Given the description of an element on the screen output the (x, y) to click on. 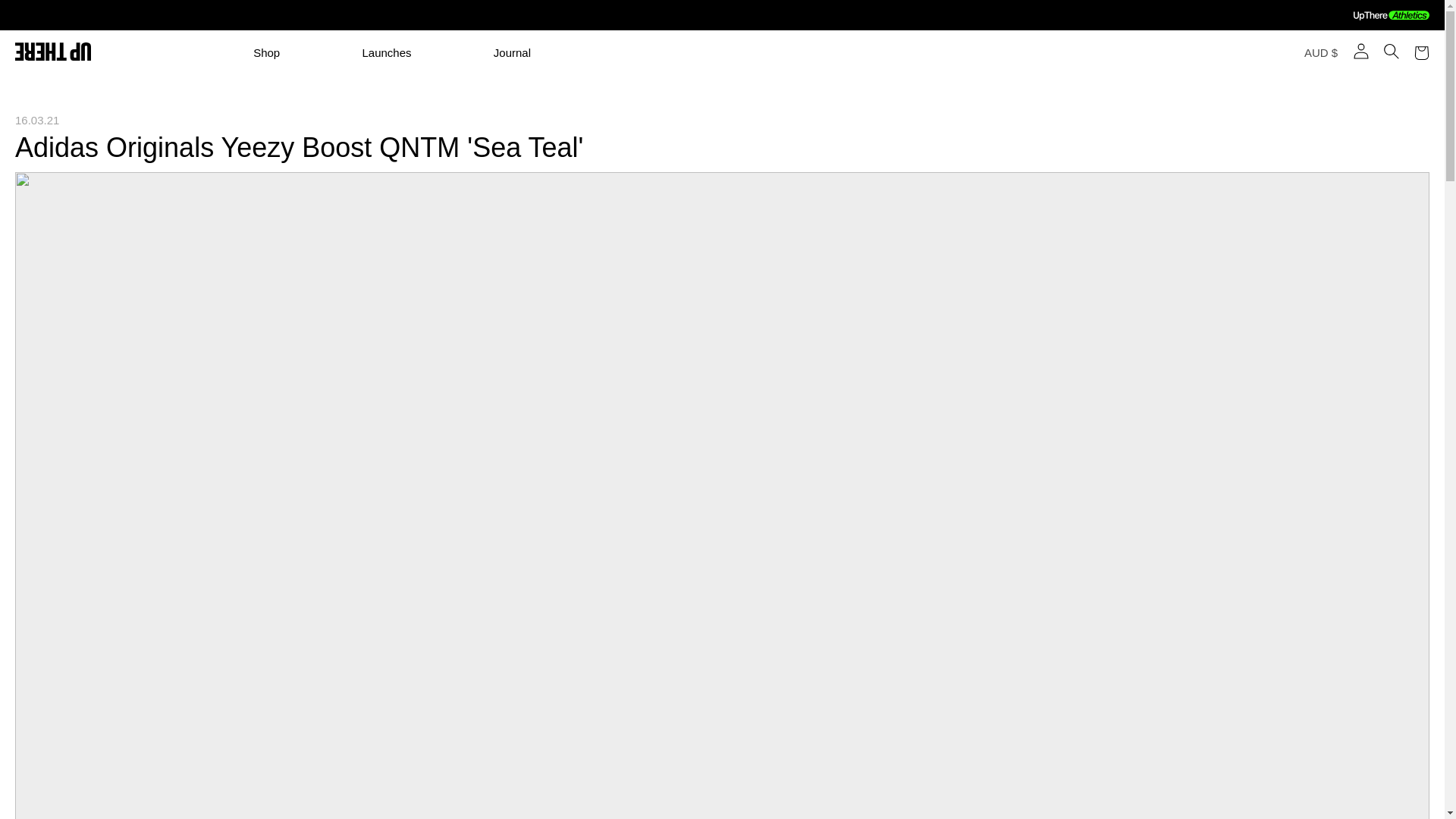
Shop (305, 52)
